Given the description of an element on the screen output the (x, y) to click on. 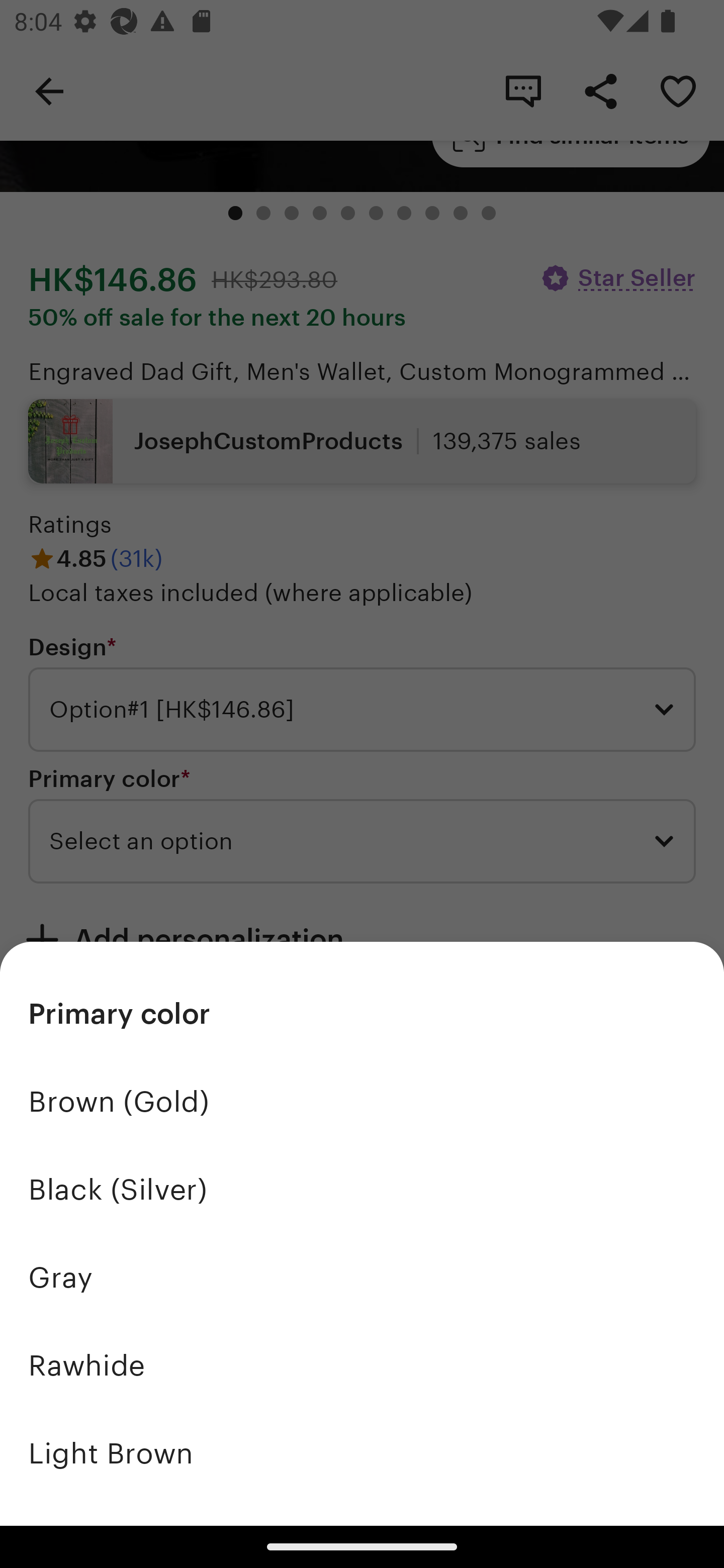
Brown (Gold) (362, 1102)
Black (Silver) (362, 1190)
Gray (362, 1277)
Rawhide (362, 1365)
Light Brown (362, 1453)
